Given the description of an element on the screen output the (x, y) to click on. 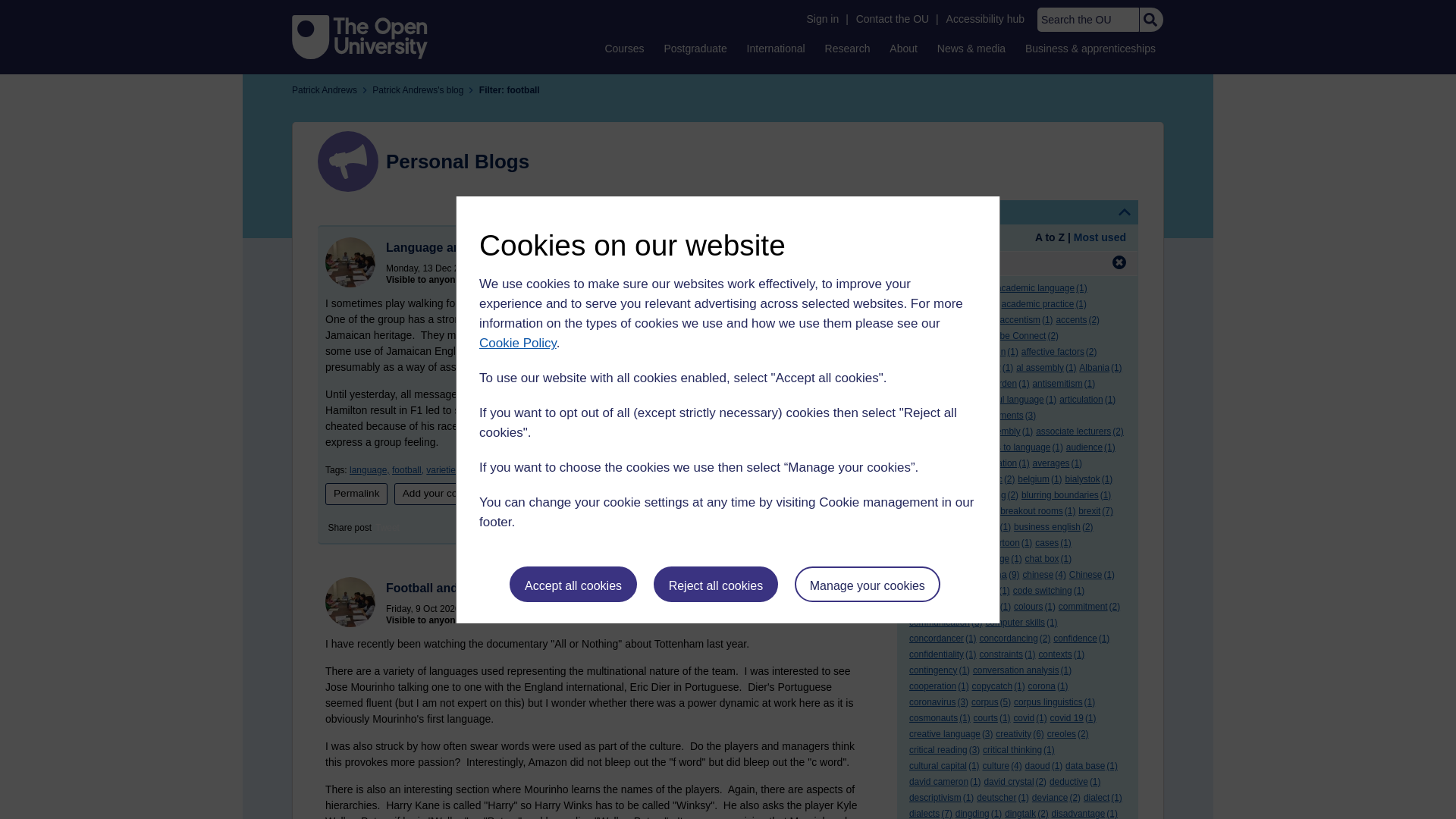
Contact the OU (892, 19)
Postgraduate (695, 48)
Research (847, 48)
Reject all cookies (715, 583)
Help with Order: (951, 238)
Courses (623, 48)
Accept all cookies (573, 583)
Manage your cookies (867, 583)
Search (1149, 19)
The Open University (360, 36)
Cookie Policy (517, 342)
About (903, 48)
Accessibility hub (985, 19)
Sign in (822, 19)
